Given the description of an element on the screen output the (x, y) to click on. 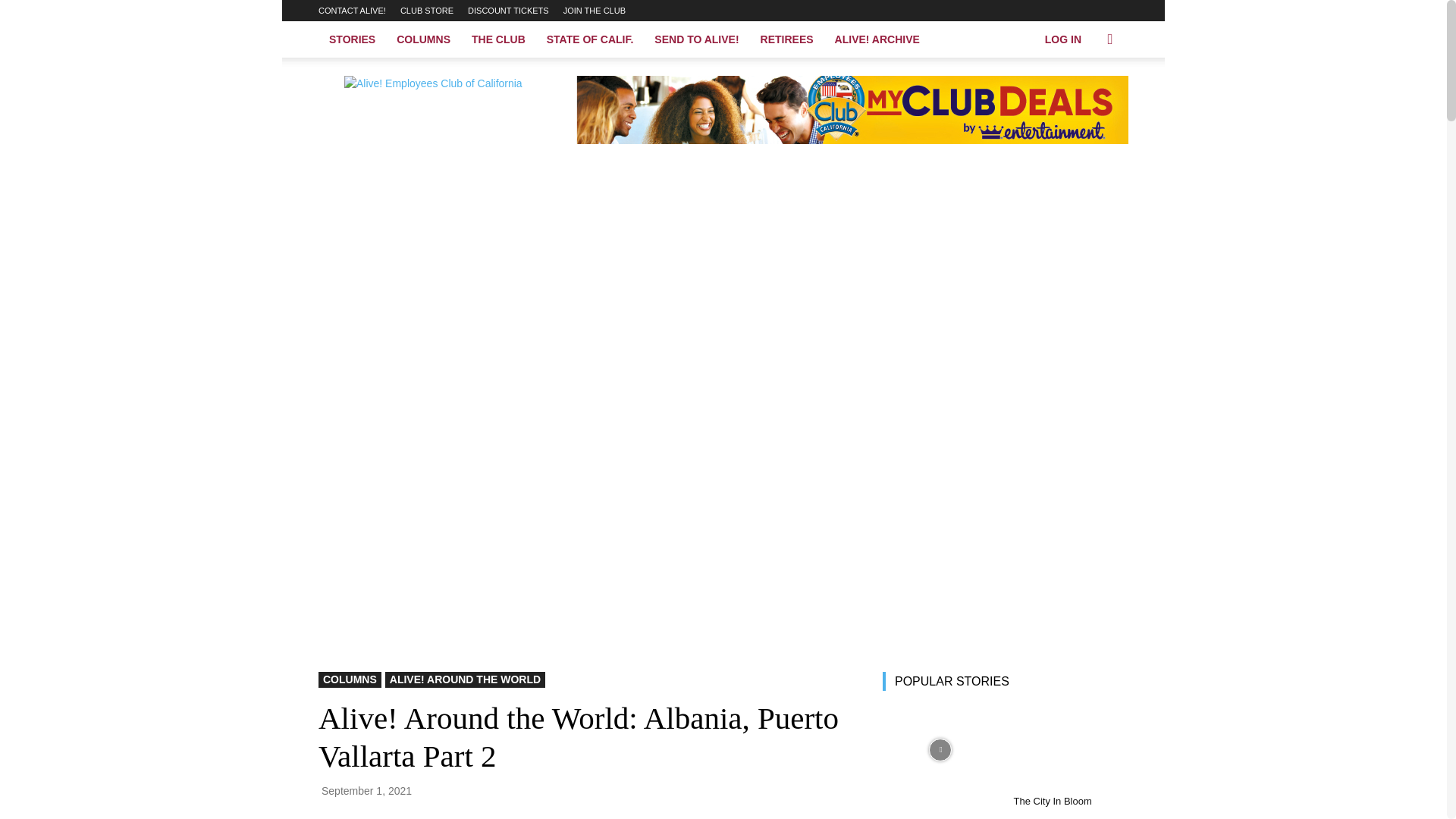
News for members of the Employees Club of California.  (446, 110)
